Given the description of an element on the screen output the (x, y) to click on. 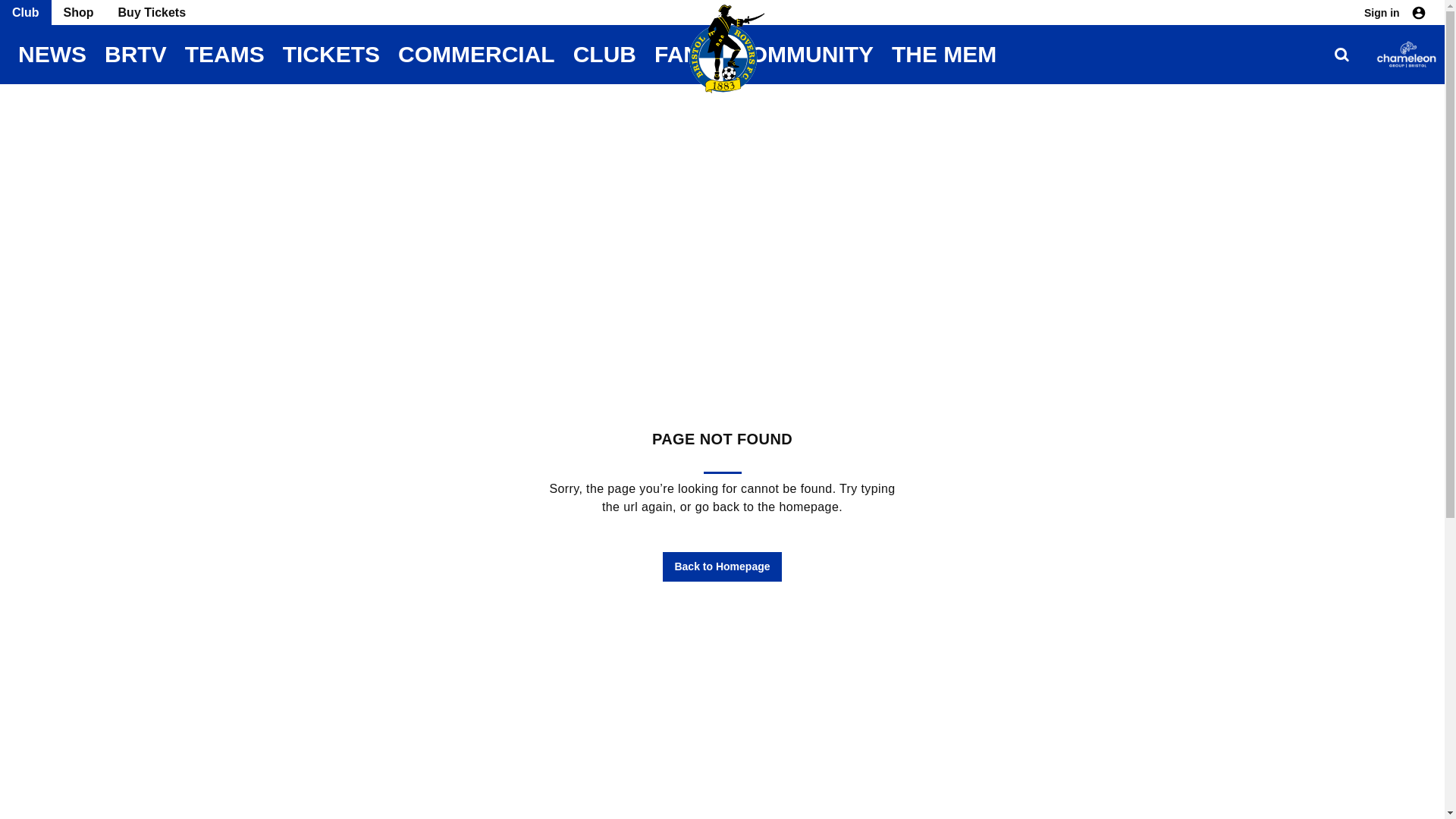
Buy Tickets (152, 12)
BRTV (135, 54)
Sign in (1394, 12)
NEWS (51, 54)
Club (25, 12)
TEAMS (224, 54)
Chameleon Group (1406, 54)
TICKETS (331, 54)
Shop (78, 12)
